Given the description of an element on the screen output the (x, y) to click on. 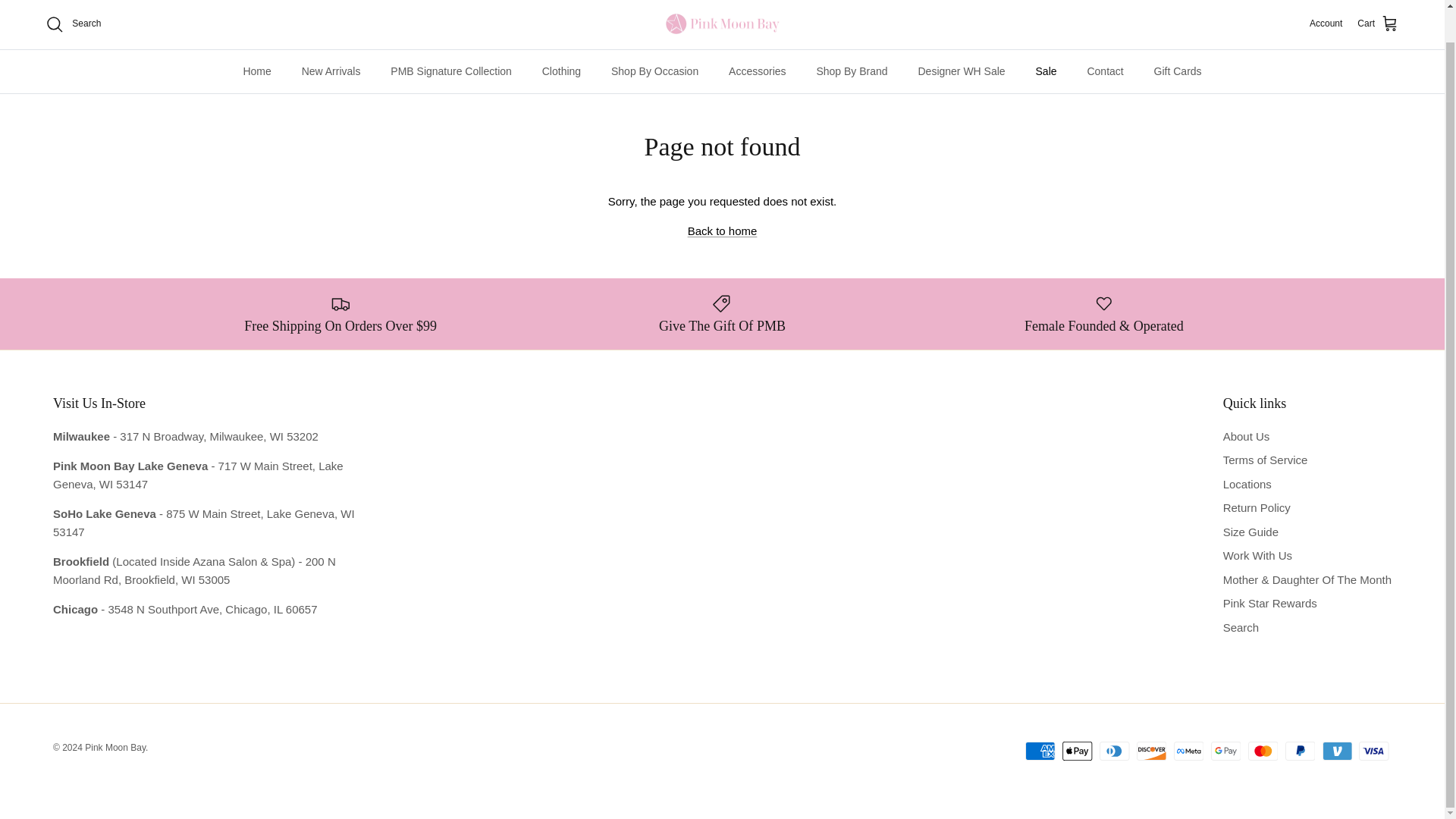
Diners Club (1114, 751)
Clothing (561, 71)
Discover (1151, 751)
Cart (1377, 24)
Google Pay (1225, 751)
Home (255, 71)
Visa (1373, 751)
Account (1325, 23)
Mastercard (1262, 751)
Search (72, 24)
